Given the description of an element on the screen output the (x, y) to click on. 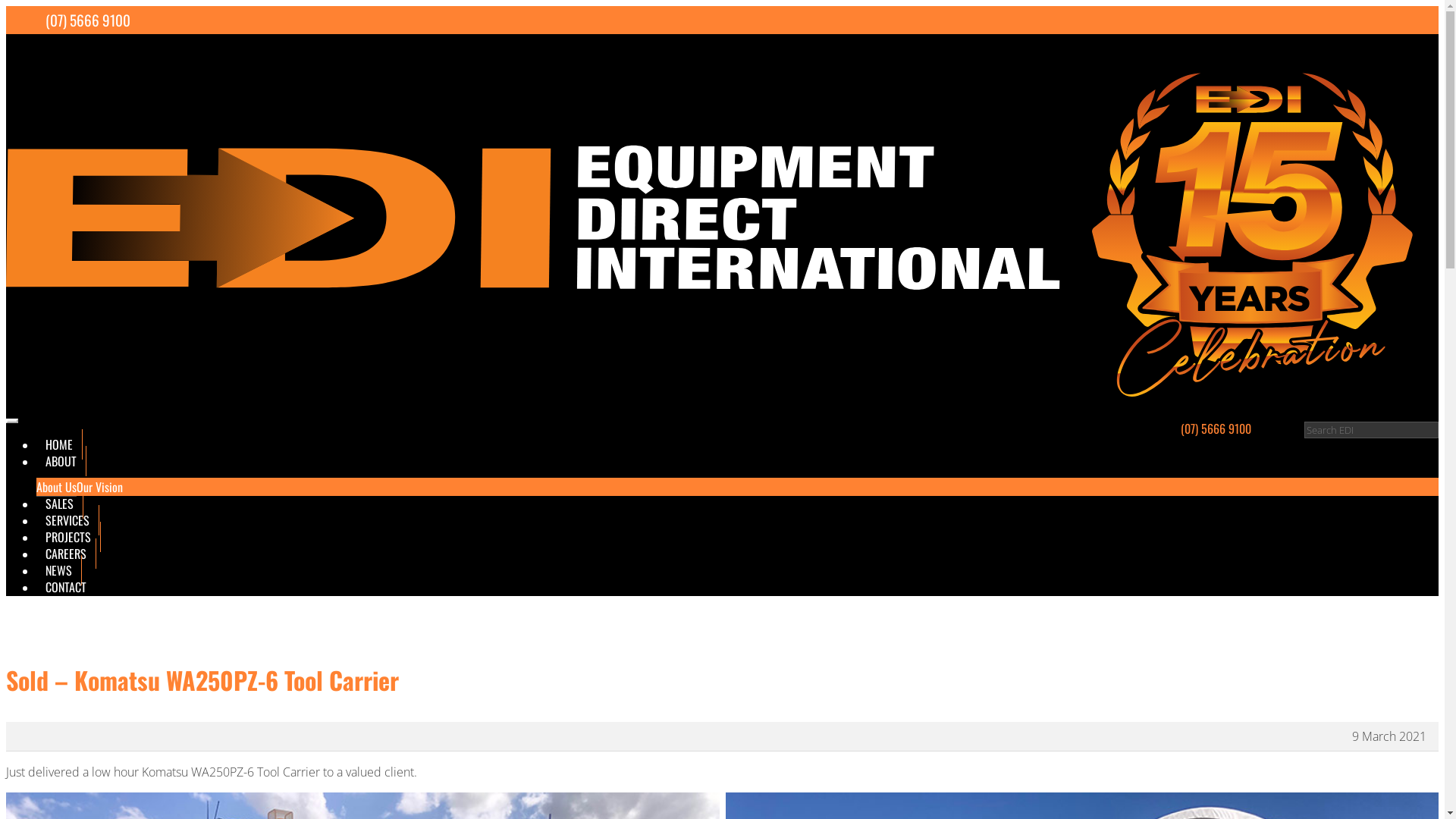
CONTACT Element type: text (65, 586)
SERVICES Element type: text (67, 520)
(07) 5666 9100 Element type: text (1215, 428)
(07) 5666 9100 Element type: text (87, 20)
ABOUT Element type: text (61, 460)
About Us Element type: text (56, 486)
NEWS Element type: text (58, 570)
HOME Element type: text (59, 444)
Our Vision Element type: text (99, 486)
SALES Element type: text (59, 503)
PROJECTS Element type: text (68, 536)
CAREERS Element type: text (66, 553)
